Given the description of an element on the screen output the (x, y) to click on. 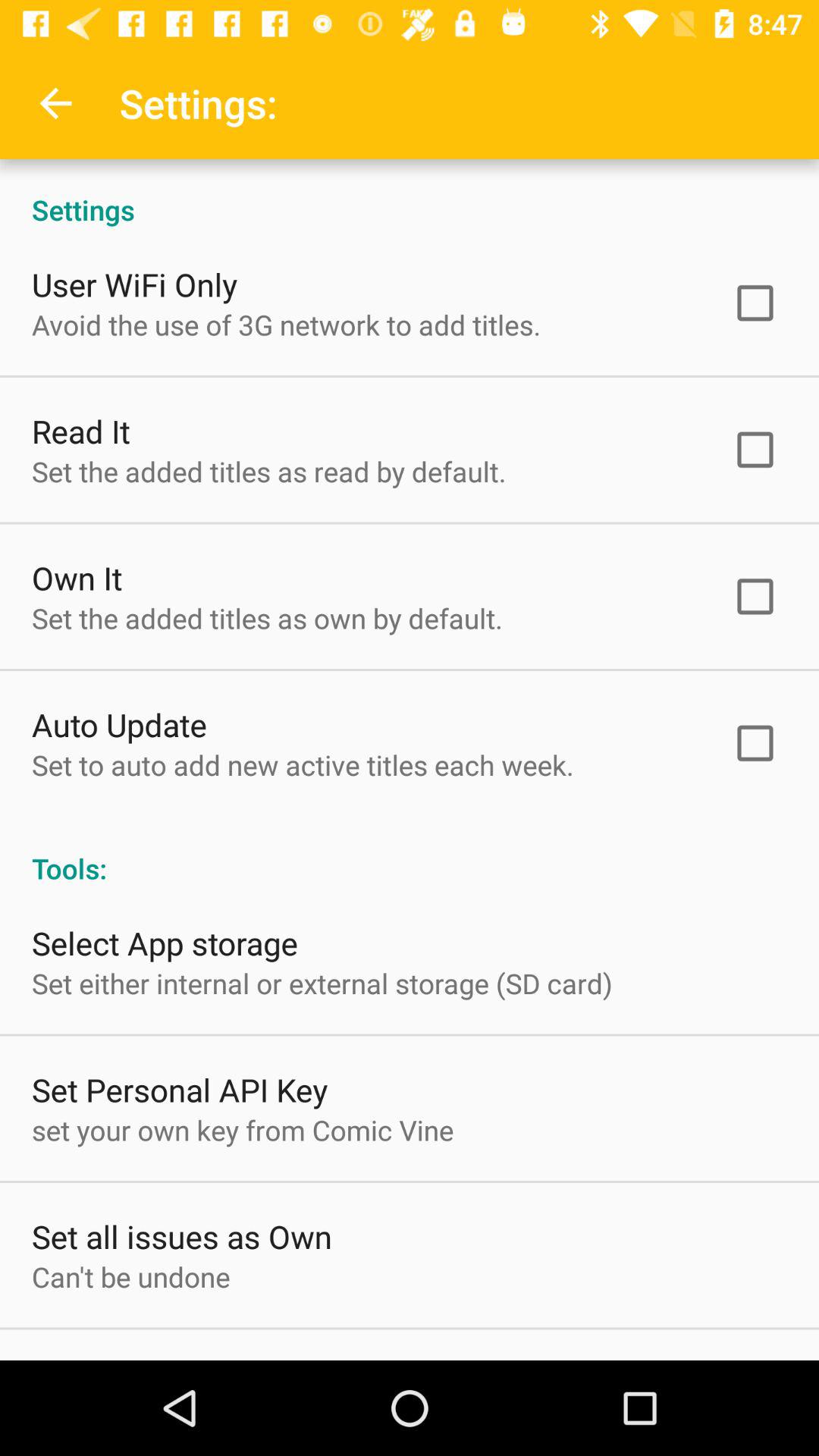
tap user wifi only icon (134, 283)
